Given the description of an element on the screen output the (x, y) to click on. 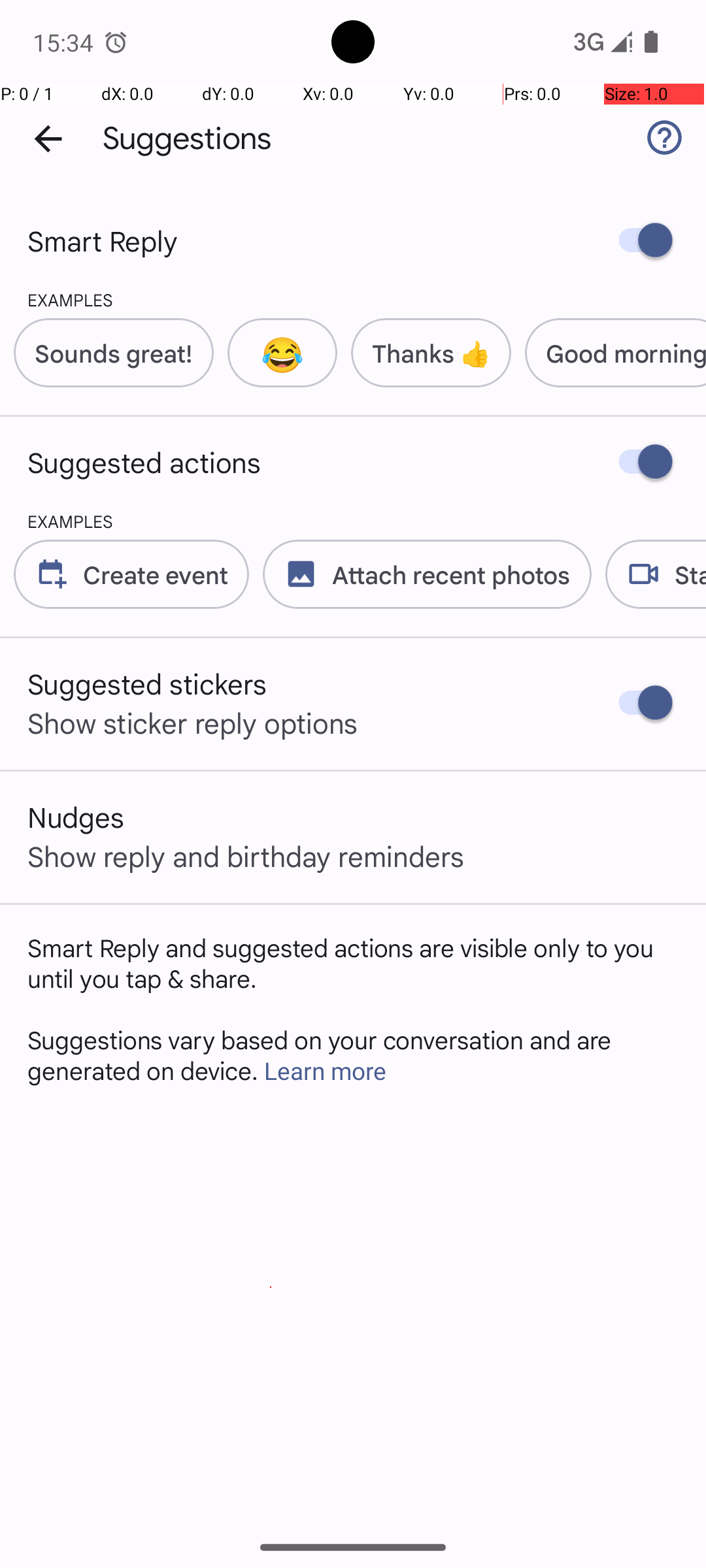
Smart Reply and suggested actions are visible only to you until you tap & share. 

Suggestions vary based on your conversation and are generated on device. Learn more Element type: android.widget.TextView (353, 1008)
Smart Reply Element type: android.widget.TextView (102, 240)
EXAMPLES Element type: android.widget.TextView (56, 299)
Suggested actions Element type: android.widget.TextView (143, 461)
Suggested stickers Element type: android.widget.TextView (147, 682)
Show sticker reply options Element type: android.widget.TextView (192, 722)
Nudges Element type: android.widget.TextView (75, 816)
Show reply and birthday reminders Element type: android.widget.TextView (245, 855)
Suggested reply: Sounds great! Element type: android.widget.FrameLayout (106, 352)
Suggested reply: 😂 Element type: android.widget.FrameLayout (275, 352)
Suggested reply: Thanks 👍 Element type: android.widget.FrameLayout (424, 352)
Suggested reply: Good morning Element type: android.widget.FrameLayout (608, 352)
Suggested calendar action: Create event Element type: android.widget.FrameLayout (124, 574)
Attach recent photos Element type: android.widget.FrameLayout (420, 574)
Start video call Element type: android.widget.FrameLayout (648, 574)
Sounds great! Element type: android.widget.TextView (113, 352)
😂 Element type: android.widget.TextView (281, 352)
Thanks 👍 Element type: android.widget.TextView (430, 352)
Good morning Element type: android.widget.TextView (625, 352)
Action icon Element type: android.widget.ImageView (51, 573)
Create event Element type: android.widget.TextView (155, 573)
